Given the description of an element on the screen output the (x, y) to click on. 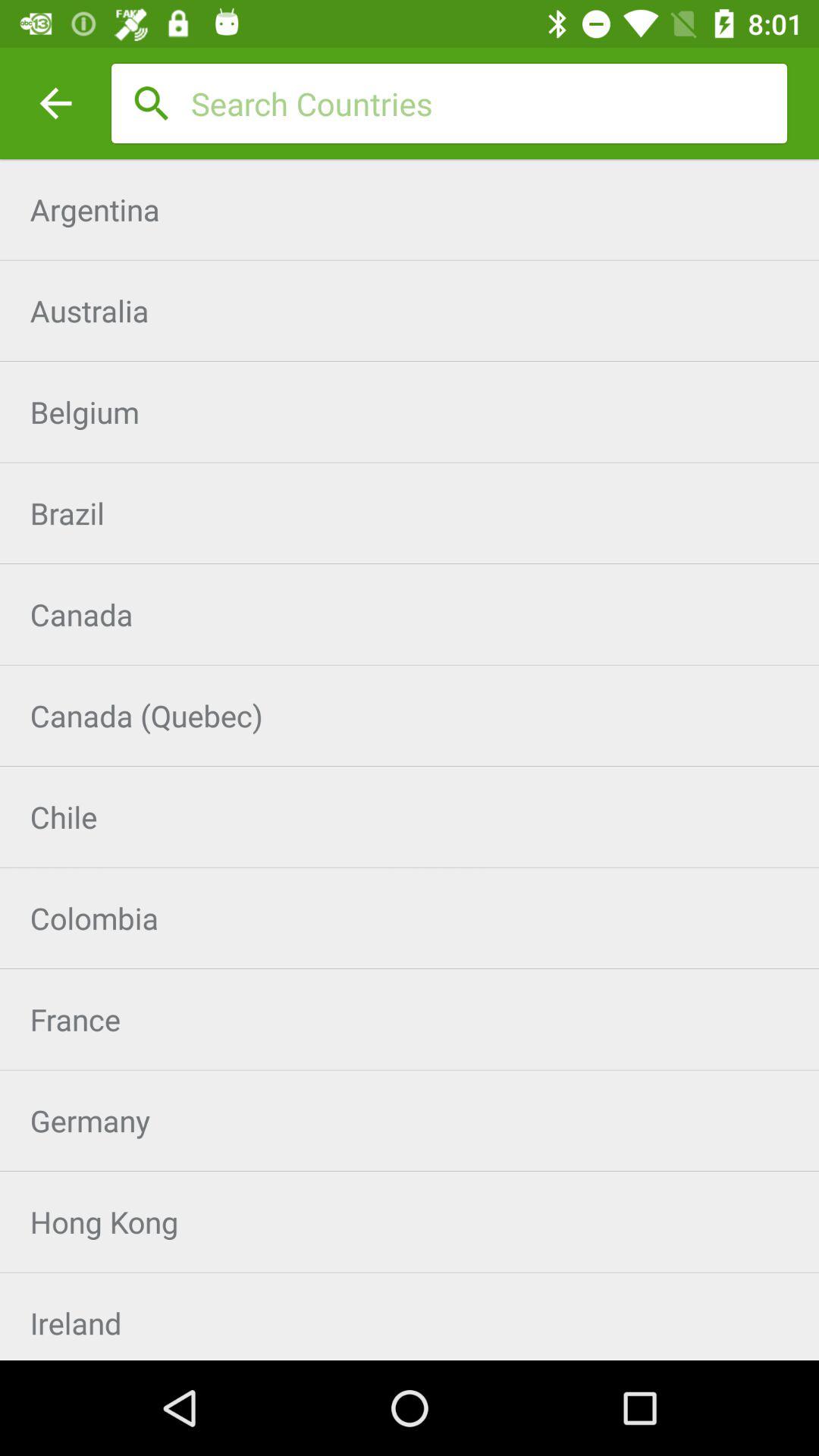
press the belgium icon (409, 411)
